Given the description of an element on the screen output the (x, y) to click on. 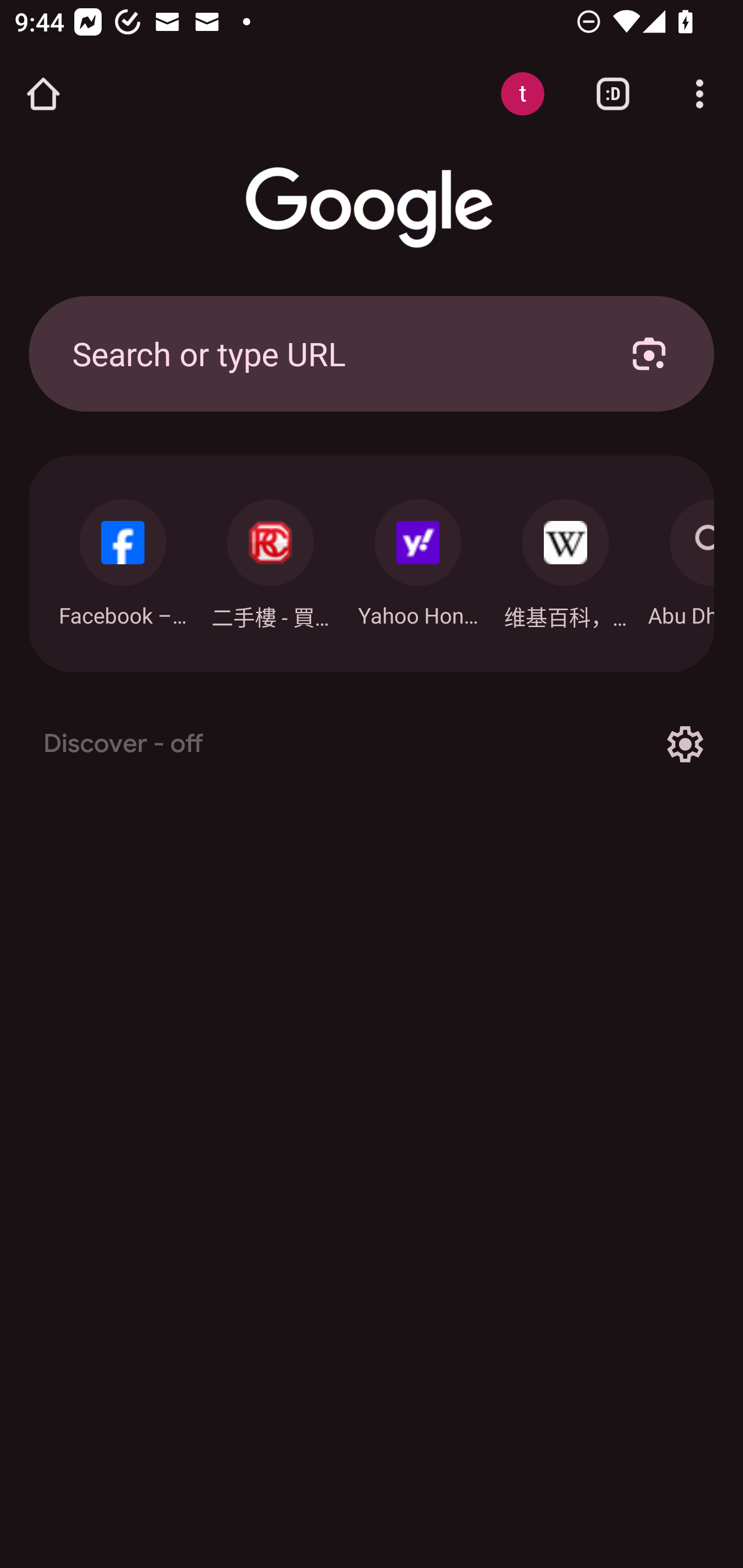
Open the home page (43, 93)
Switch or close tabs (612, 93)
Customize and control Google Chrome (699, 93)
Search or type URL (327, 353)
Search with your camera using Google Lens (648, 353)
Options for Discover (684, 743)
